Given the description of an element on the screen output the (x, y) to click on. 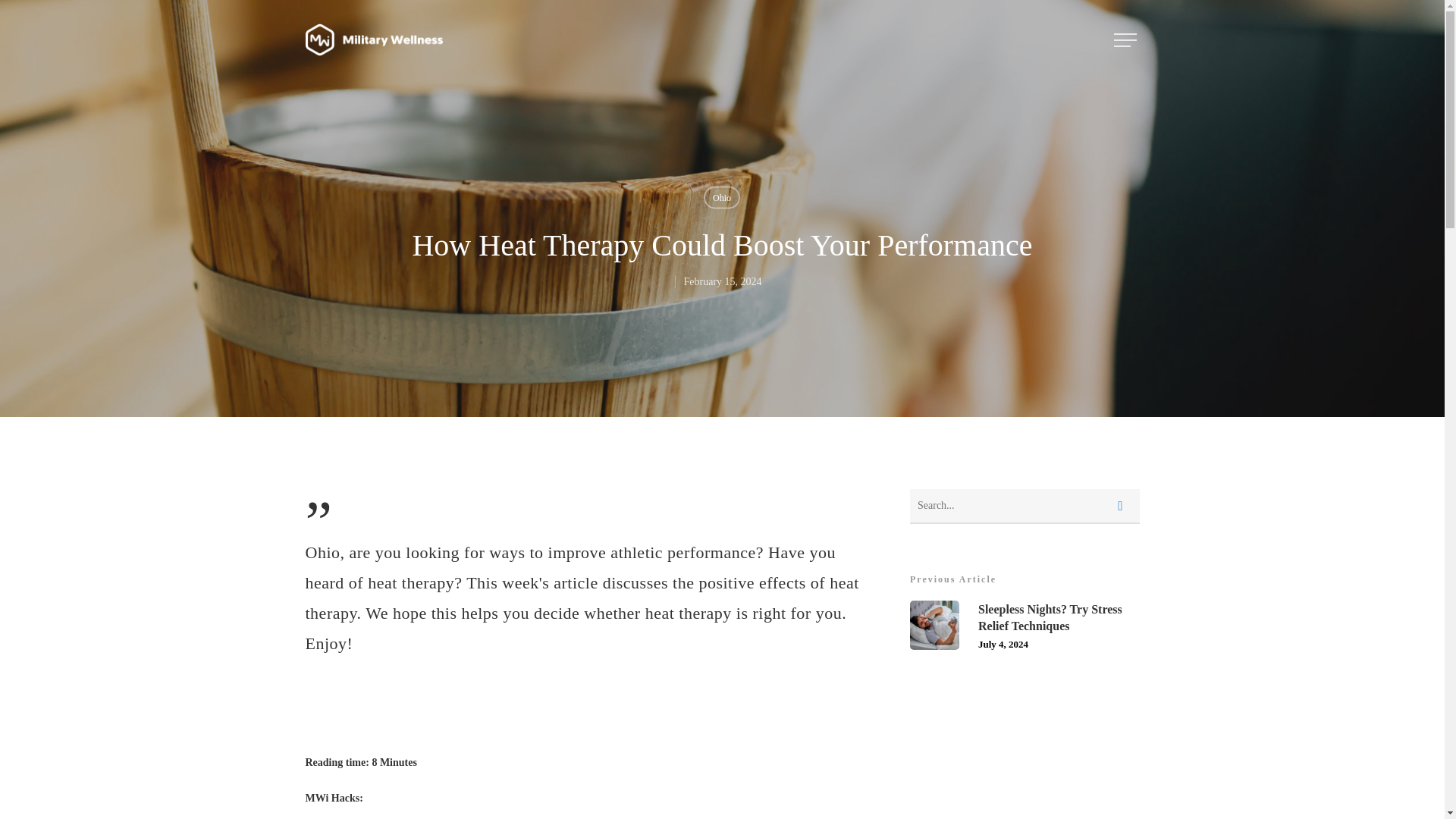
Search for: (1025, 506)
Ohio (1025, 625)
